Given the description of an element on the screen output the (x, y) to click on. 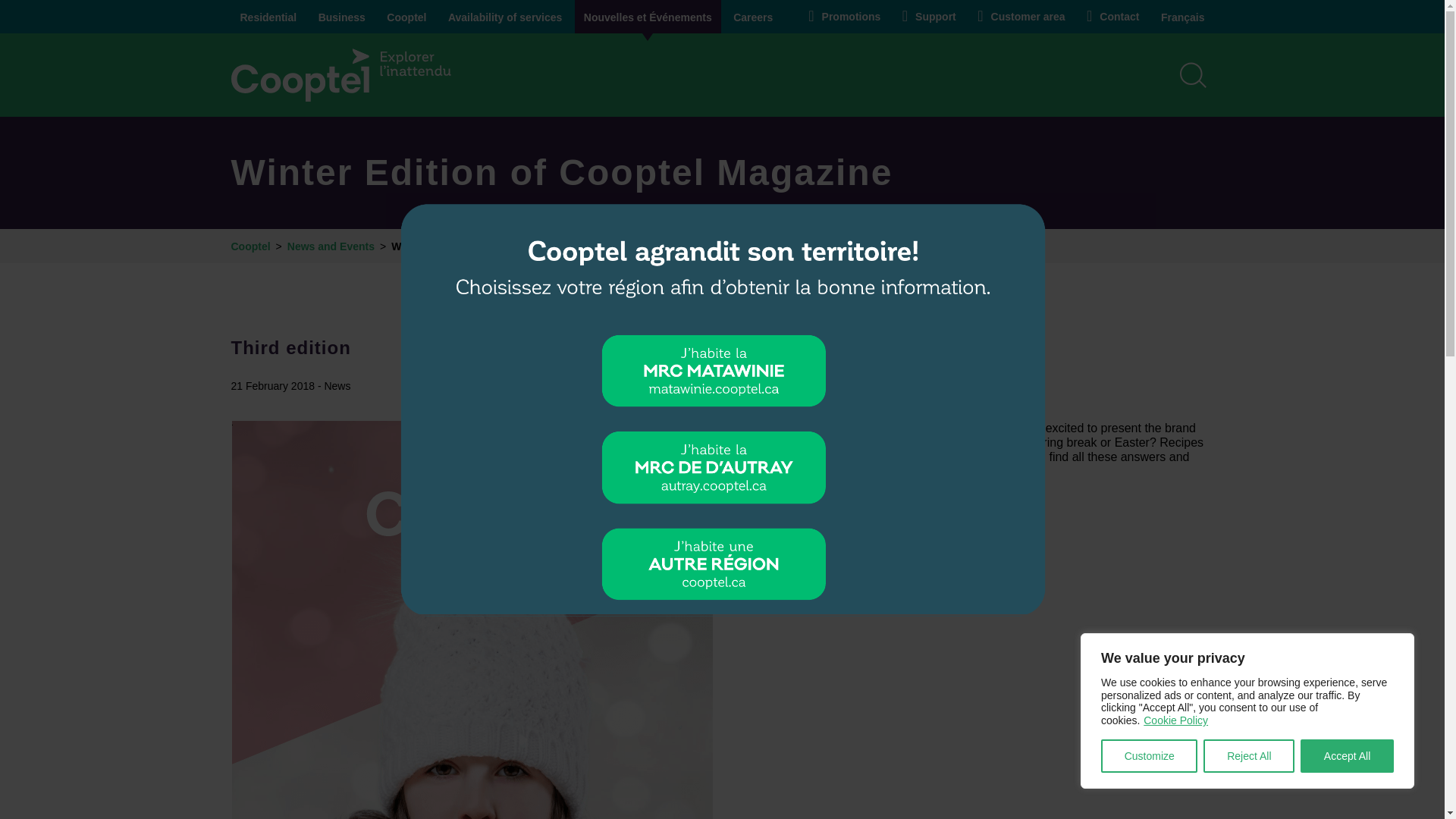
Accept All (1346, 756)
Cookie Policy (1175, 720)
Customize (1148, 756)
Business (341, 16)
Residential (267, 16)
Reject All (1249, 756)
